Given the description of an element on the screen output the (x, y) to click on. 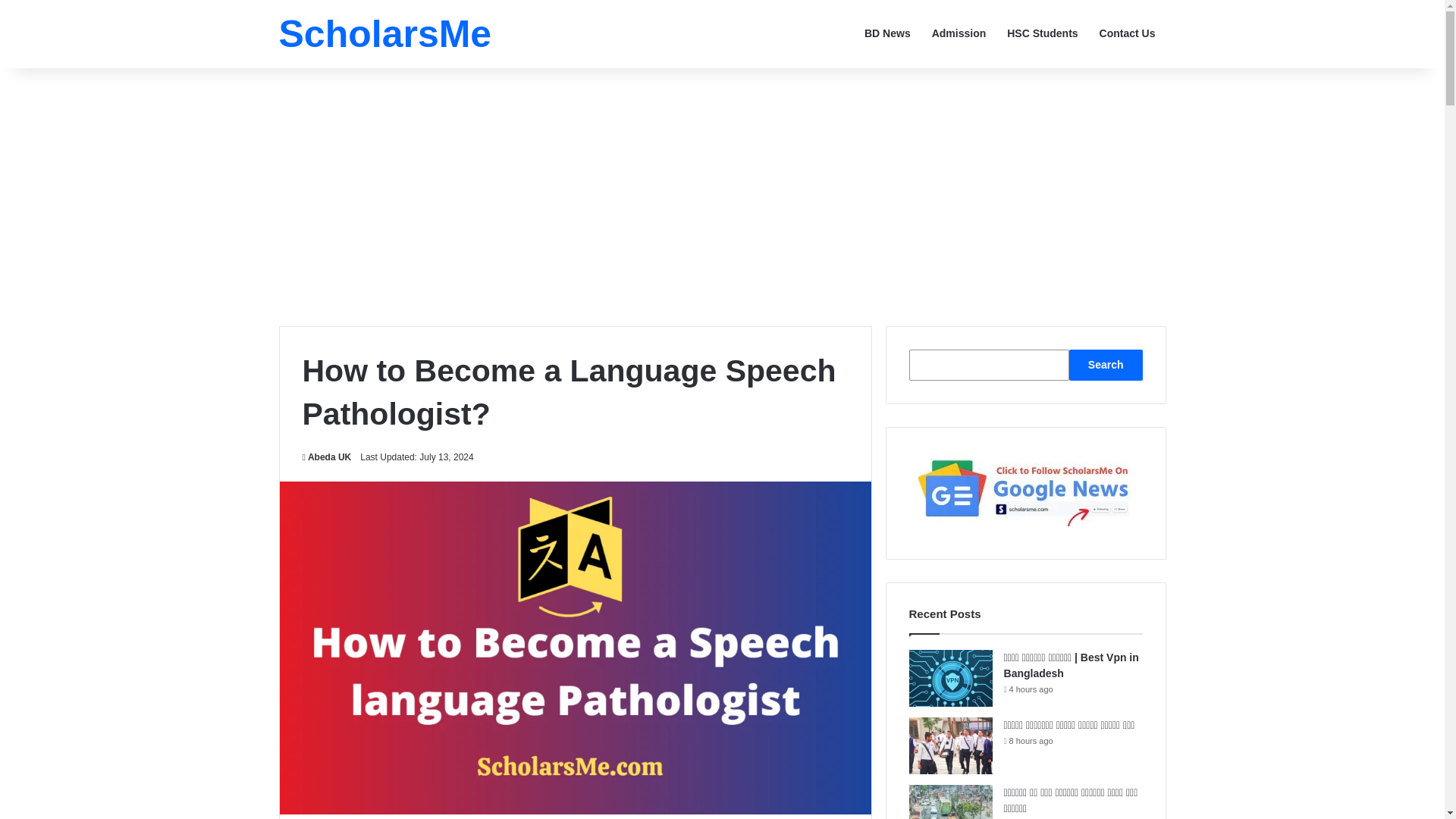
Admission (959, 33)
BD News (887, 33)
Contact Us (1127, 33)
Abeda UK (325, 457)
HSC Students (1041, 33)
Abeda UK (325, 457)
ScholarsMe (385, 34)
ScholarsMe (385, 34)
